Given the description of an element on the screen output the (x, y) to click on. 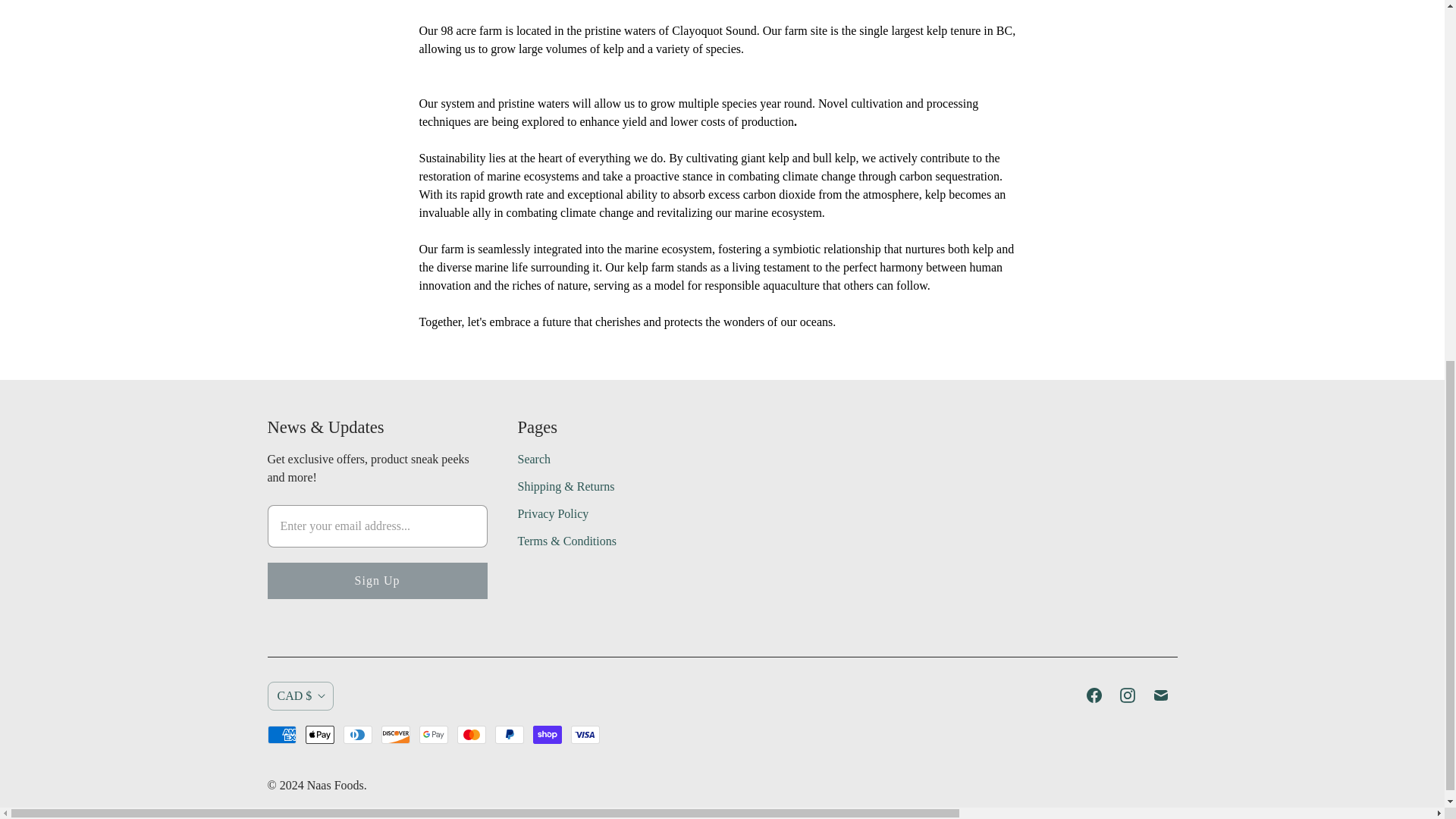
Google Pay (432, 734)
Diners Club (356, 734)
American Express (280, 734)
Sign Up (376, 580)
Discover (394, 734)
PayPal (508, 734)
Mastercard (470, 734)
Shop Pay (546, 734)
Visa (584, 734)
Apple Pay (318, 734)
